Given the description of an element on the screen output the (x, y) to click on. 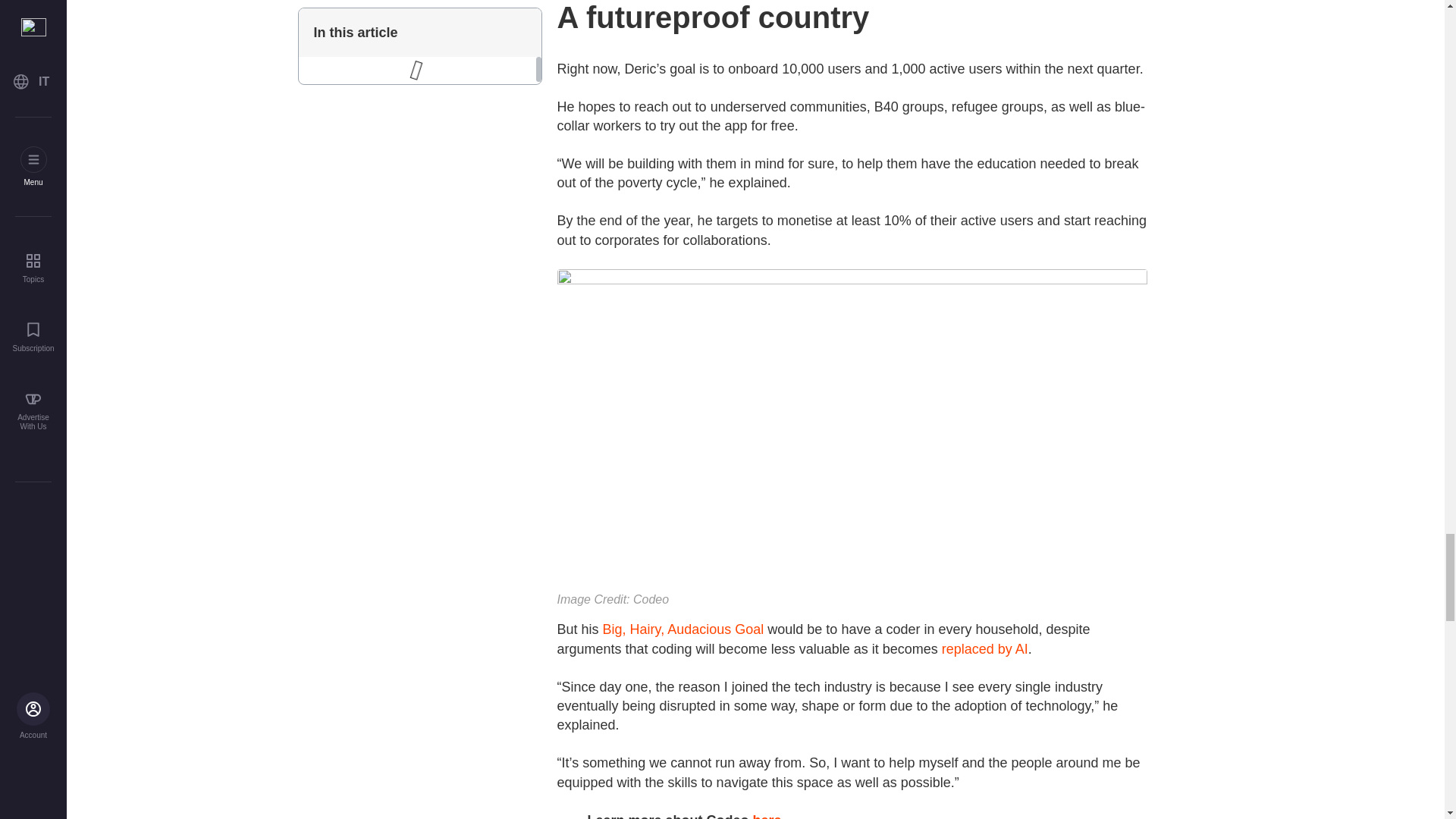
replaced by AI (984, 648)
here (766, 816)
Big, Hairy, Audacious Goal (683, 629)
